Given the description of an element on the screen output the (x, y) to click on. 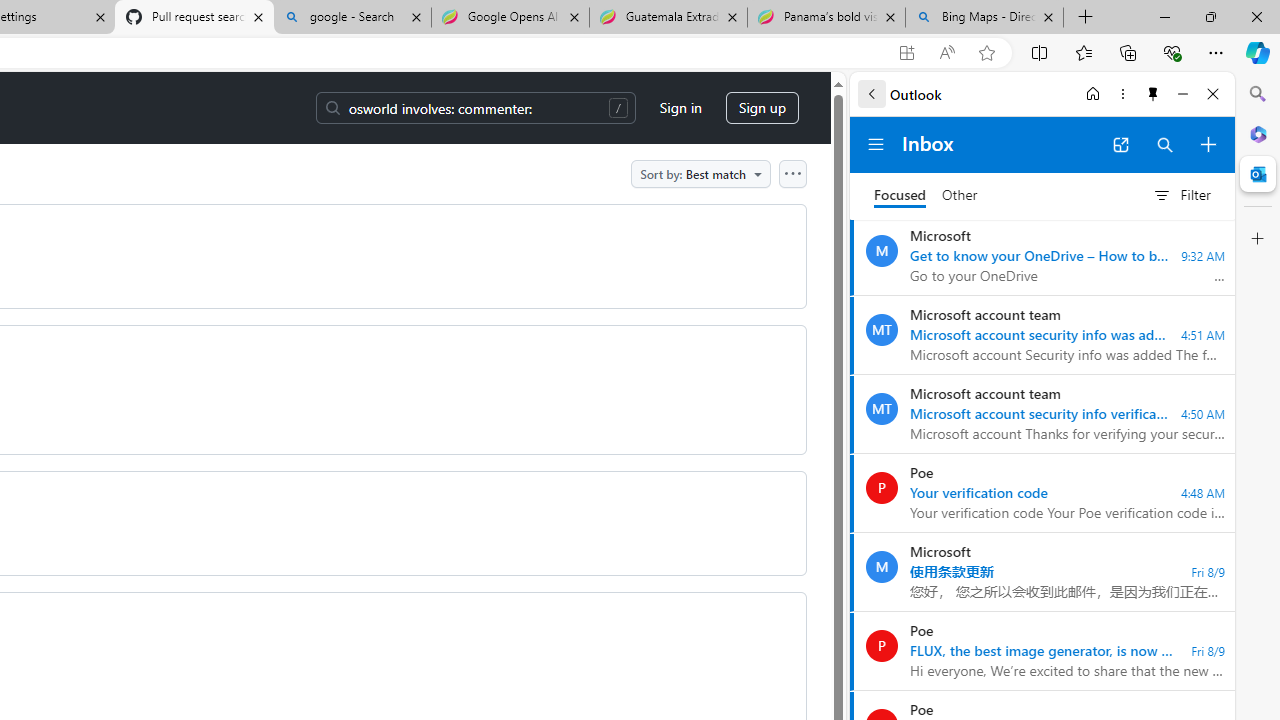
Google Opens AI Academy for Startups - Nearshore Americas (509, 17)
Sign up (761, 107)
Compose new mail (1208, 144)
